Given the description of an element on the screen output the (x, y) to click on. 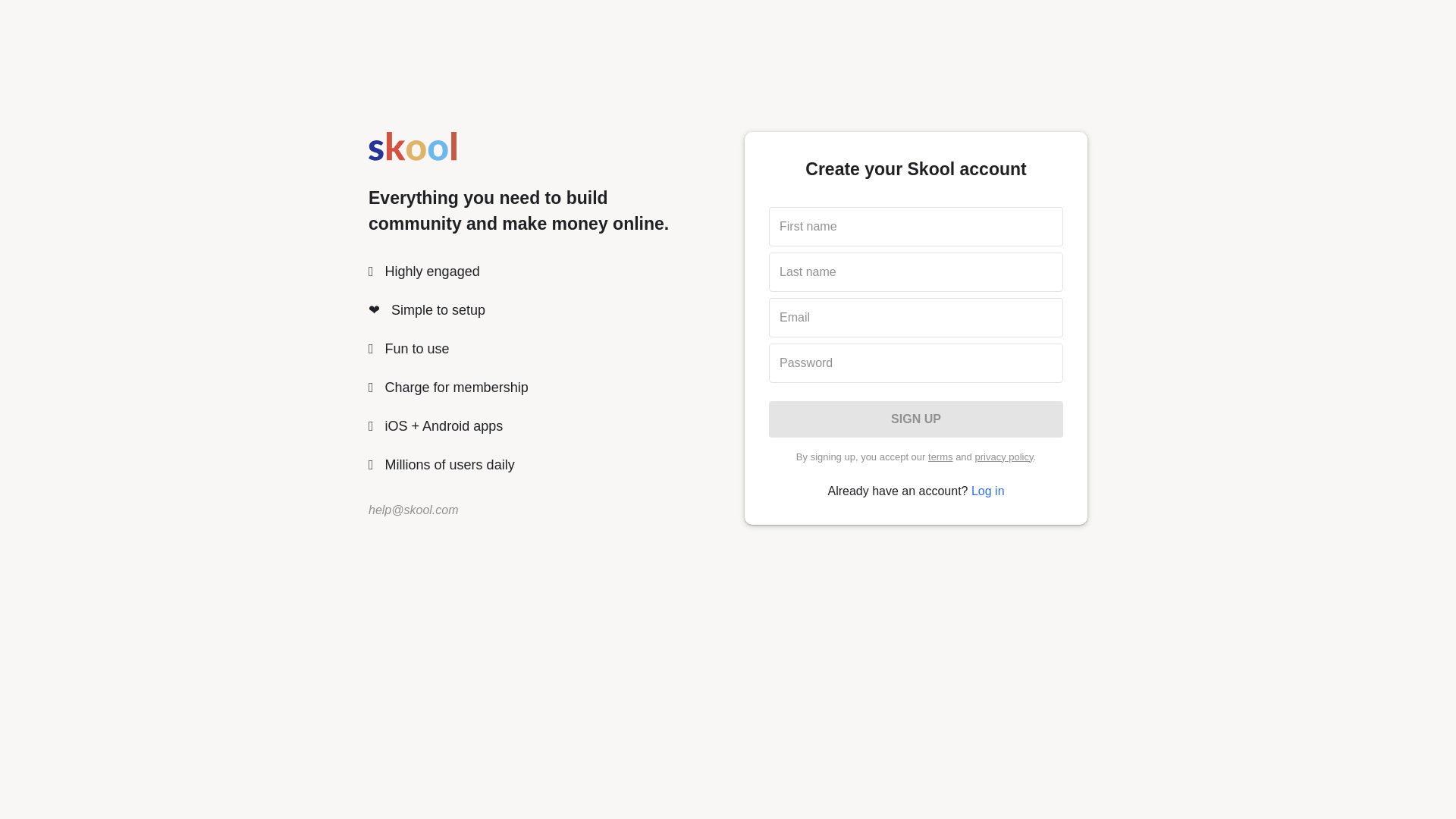
privacy policy (1003, 455)
terms (940, 455)
Log in (987, 491)
SIGN UP (915, 418)
